Given the description of an element on the screen output the (x, y) to click on. 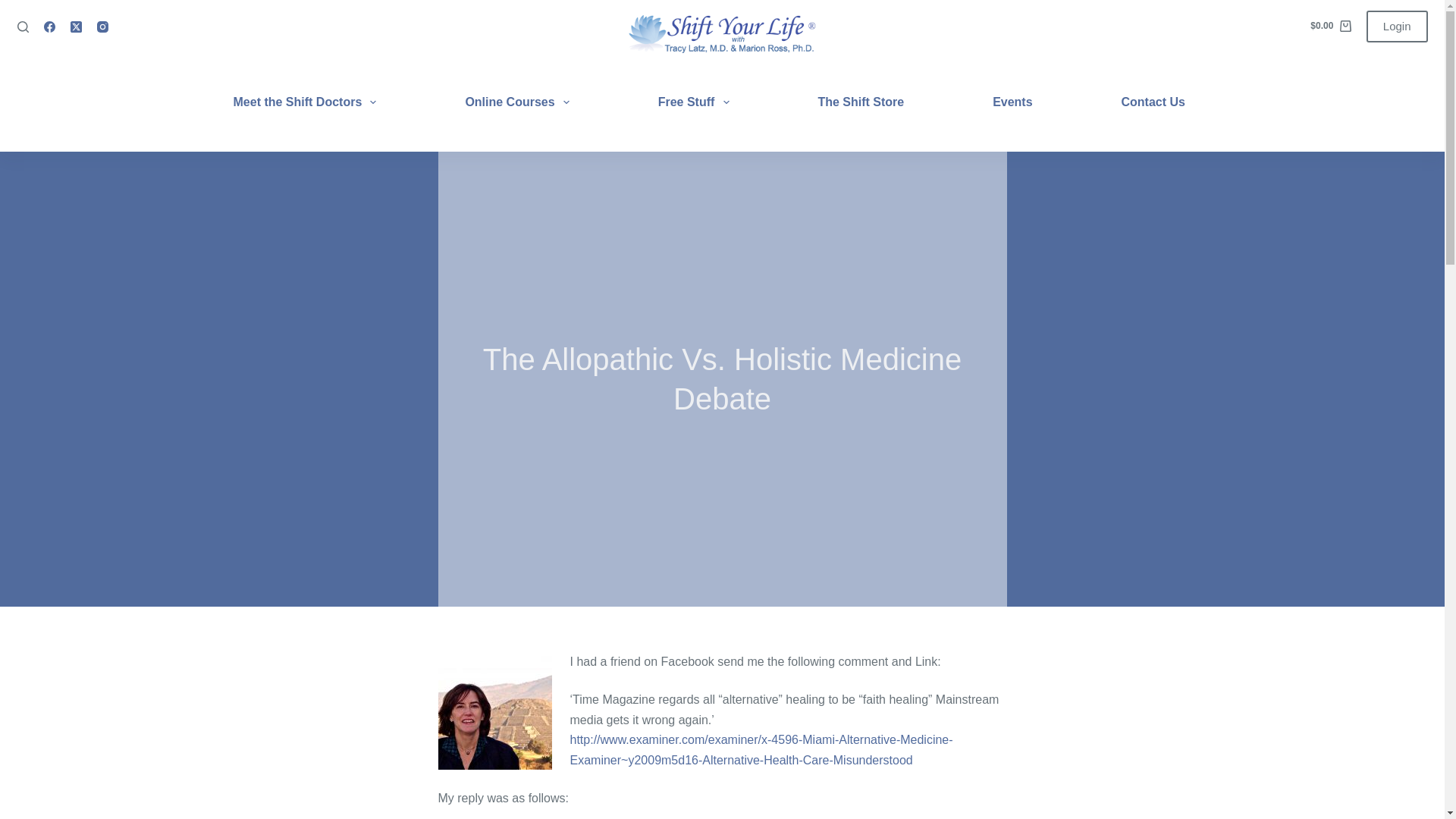
Meet the Shift Doctors (313, 102)
The Allopathic Vs. Holistic Medicine Debate (722, 378)
Tracymexico (494, 712)
Skip to content (15, 7)
Online Courses (517, 102)
Login (1397, 26)
